Given the description of an element on the screen output the (x, y) to click on. 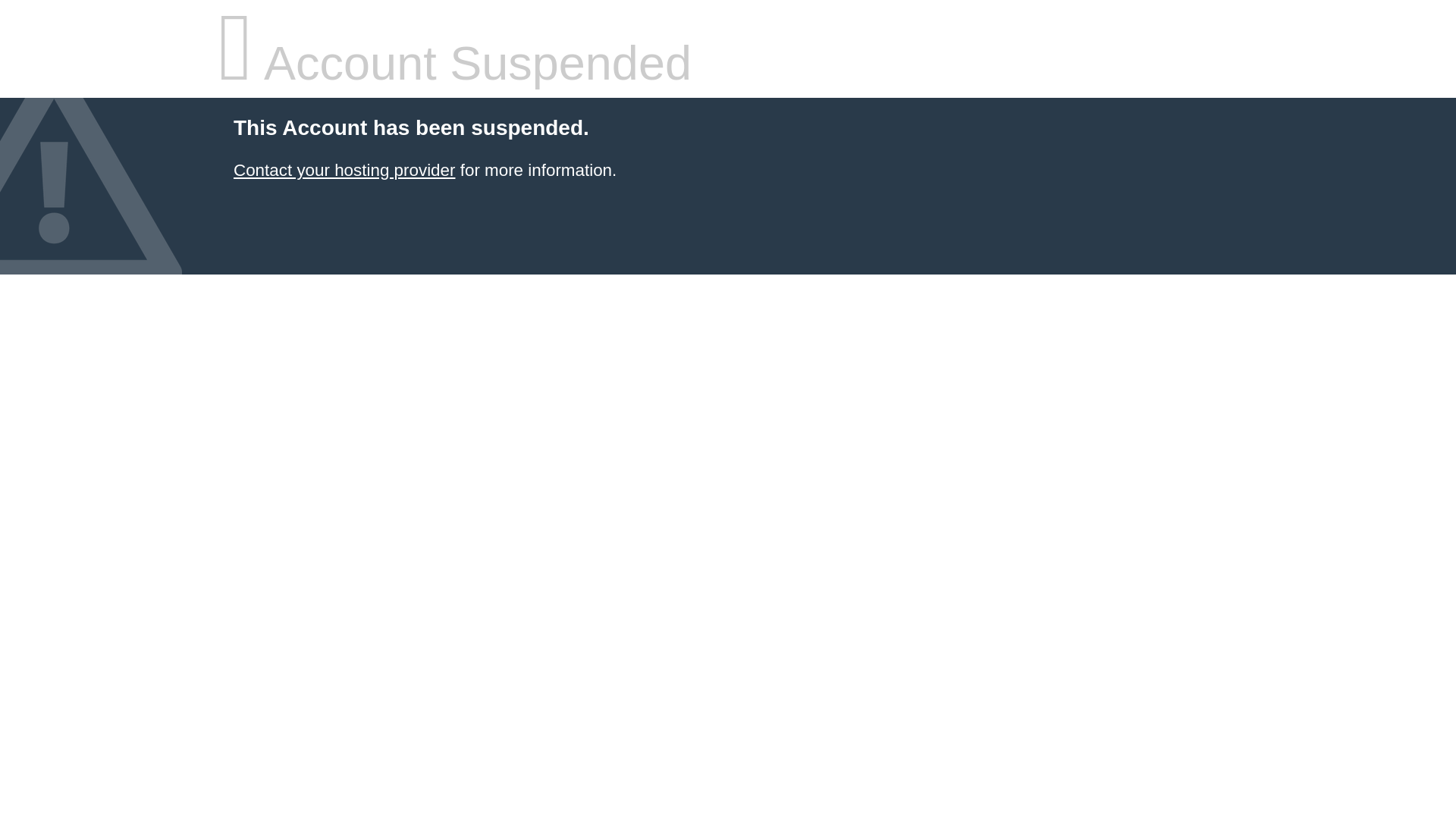
Contact your hosting provider (343, 169)
